Given the description of an element on the screen output the (x, y) to click on. 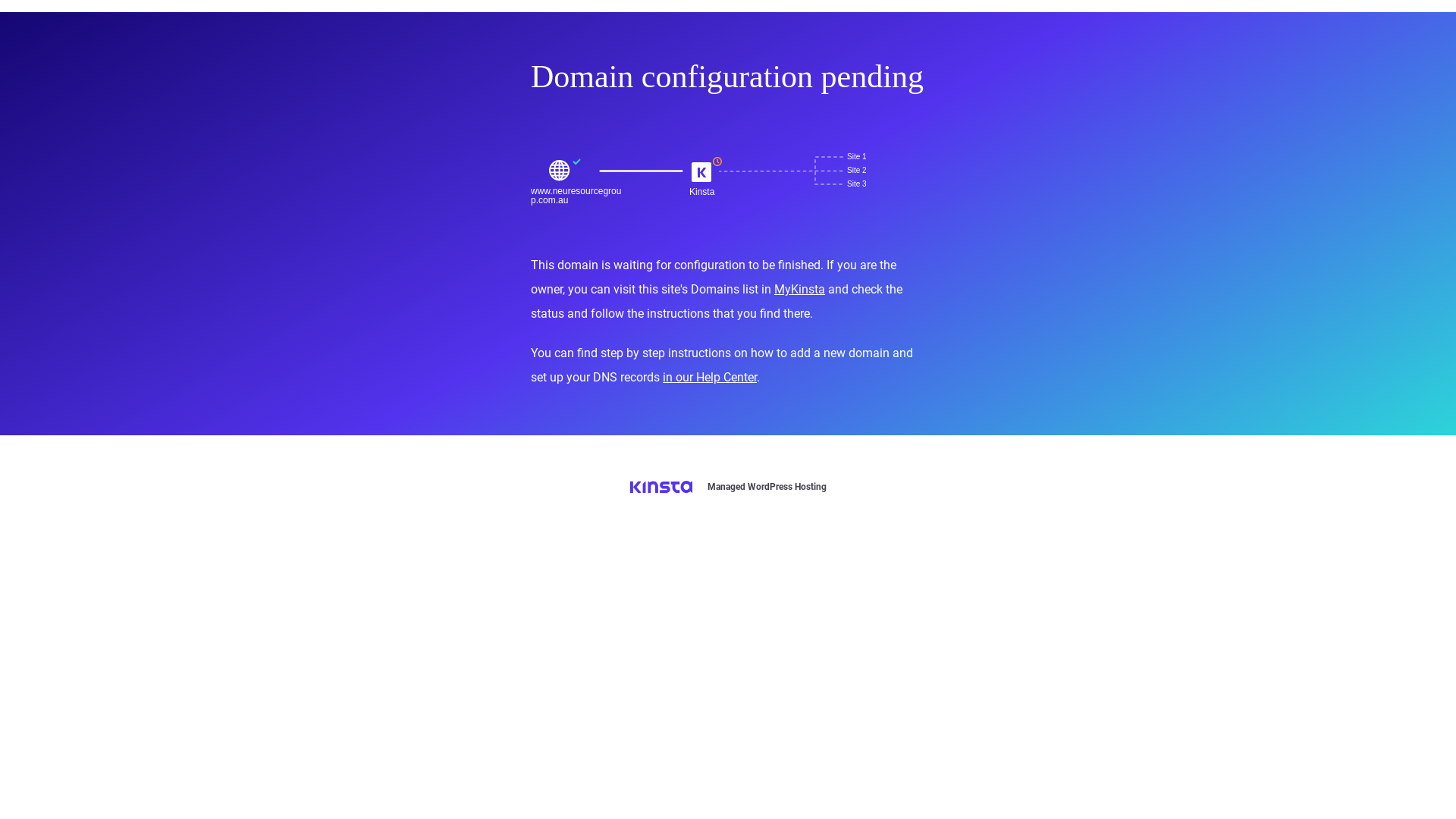
in our Help Center Element type: text (709, 377)
Kinsta logo Element type: hover (660, 486)
MyKinsta Element type: text (799, 289)
